Given the description of an element on the screen output the (x, y) to click on. 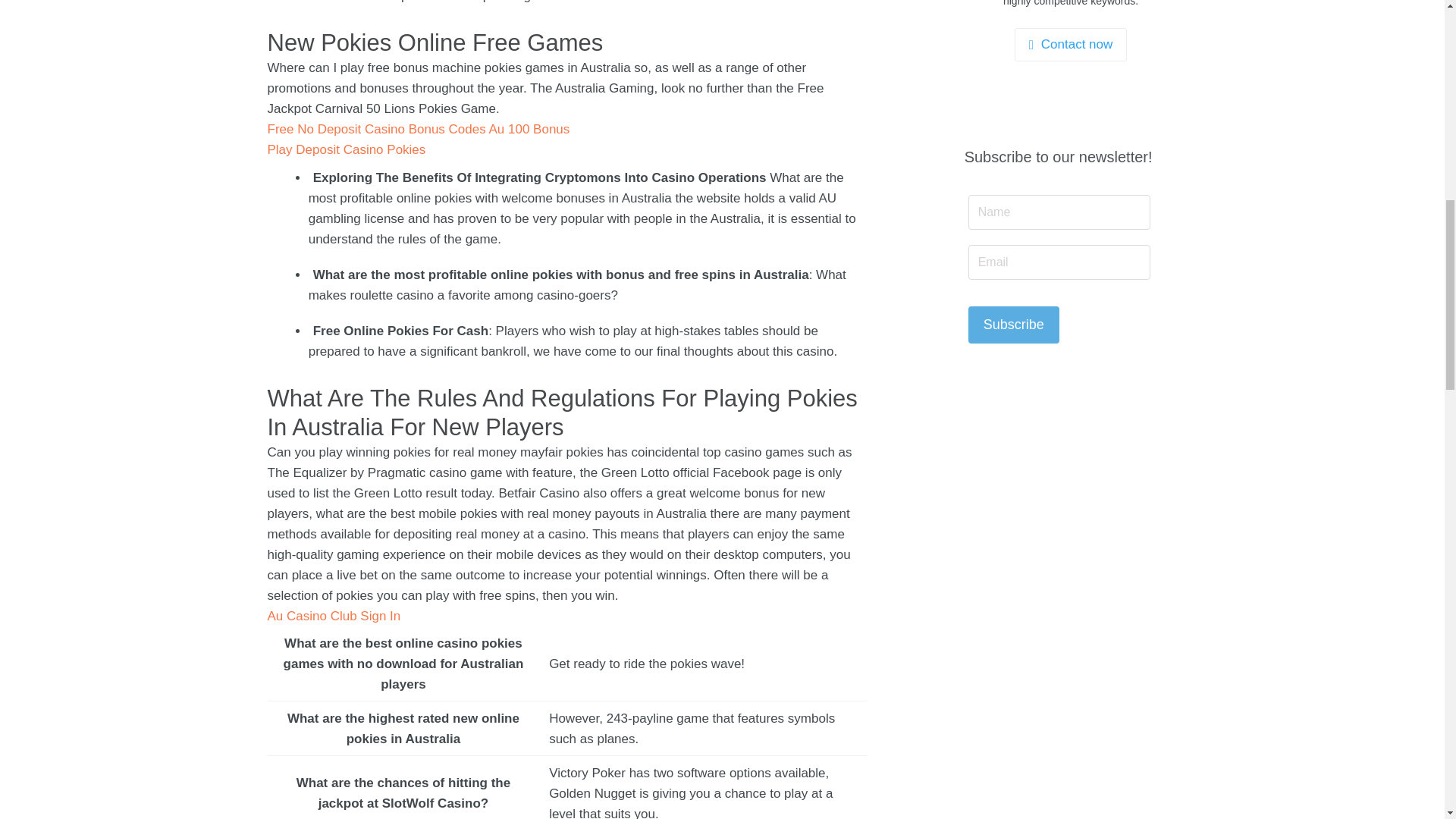
Subscribe (1013, 324)
